Given the description of an element on the screen output the (x, y) to click on. 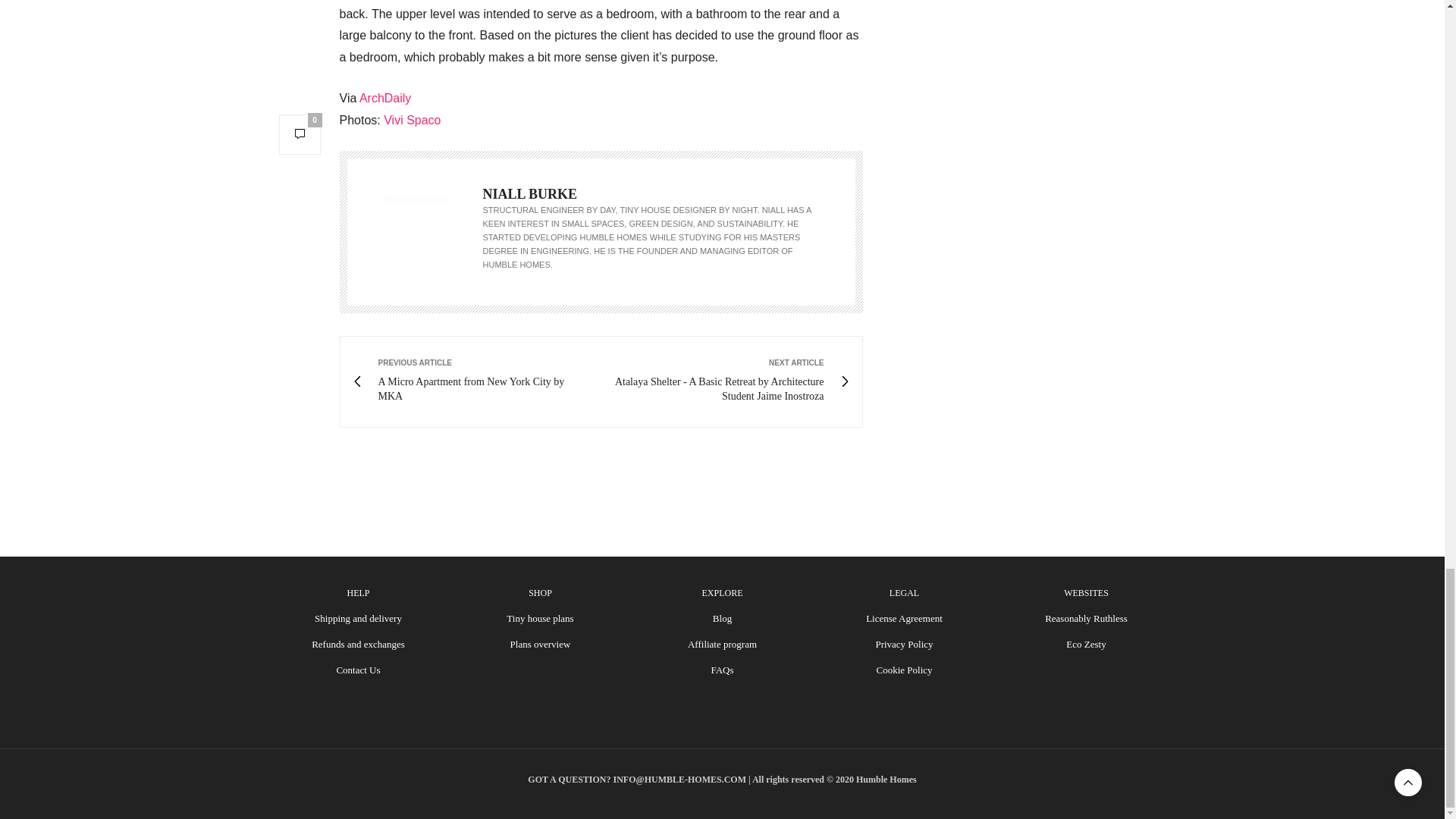
Cookie Policy (903, 669)
Tiny house plans (539, 618)
Eco Zesty (1085, 644)
Plans overview (540, 644)
Refunds and exchanges (357, 644)
License Agreement (904, 618)
Blog (722, 618)
NIALL BURKE (528, 193)
Reasonably Ruthless (1085, 618)
Affiliate program (722, 644)
FAQs (721, 669)
ArchDaily (475, 381)
Vivi Spaco (384, 97)
